Given the description of an element on the screen output the (x, y) to click on. 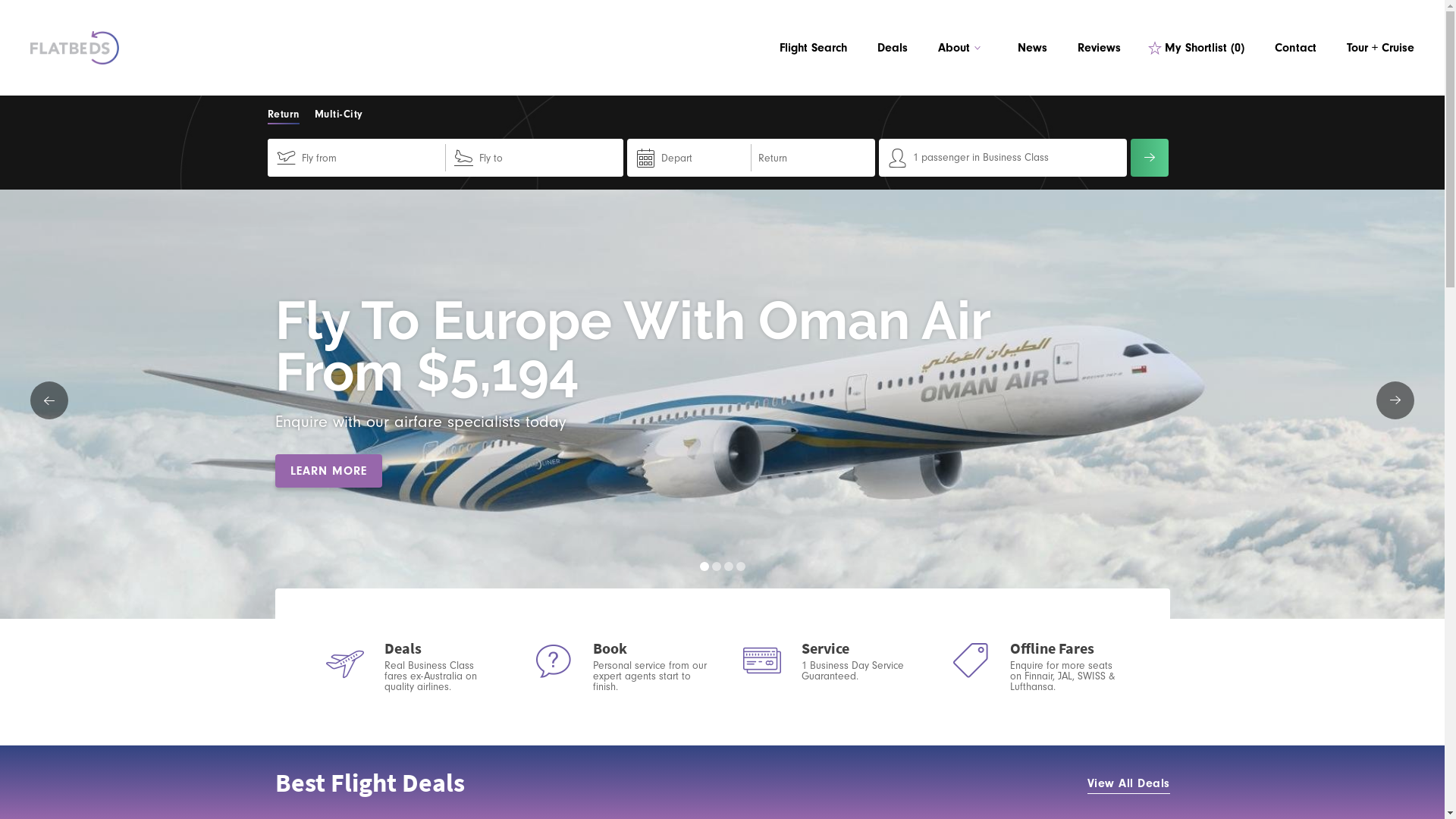
About Element type: text (962, 47)
1 Element type: text (703, 566)
View All Deals Element type: text (1128, 782)
3 Element type: text (727, 566)
Tour + Cruise Element type: text (1380, 47)
Contact Element type: text (1295, 47)
My Shortlist (0) Element type: text (1197, 47)
Flight Search Element type: text (813, 47)
News Element type: text (1032, 47)
4 Element type: text (739, 566)
LEARN MORE Element type: text (327, 469)
Reviews Element type: text (1098, 47)
Deals Element type: text (892, 47)
2 Element type: text (715, 566)
